Given the description of an element on the screen output the (x, y) to click on. 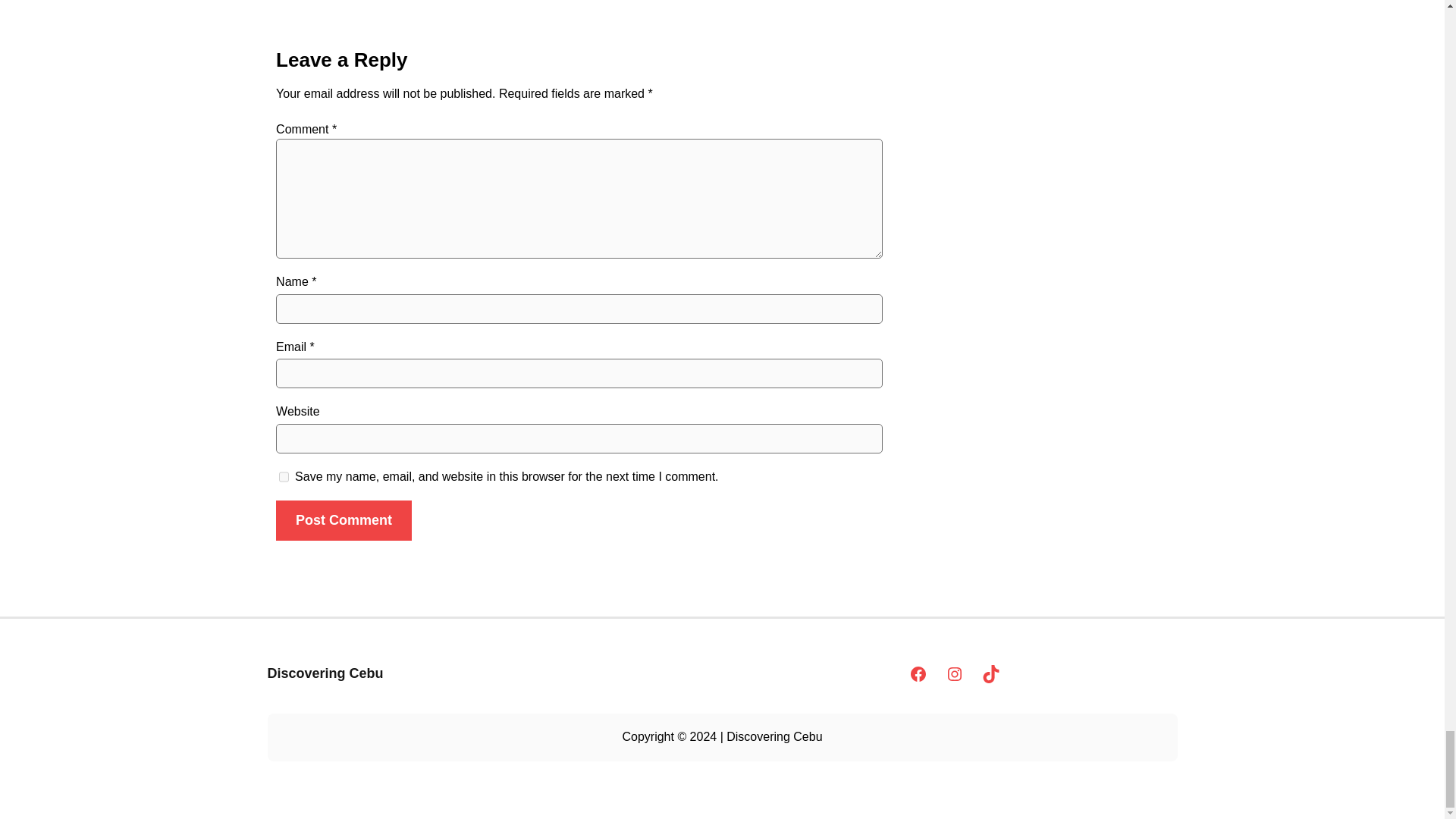
Post Comment (344, 520)
